Given the description of an element on the screen output the (x, y) to click on. 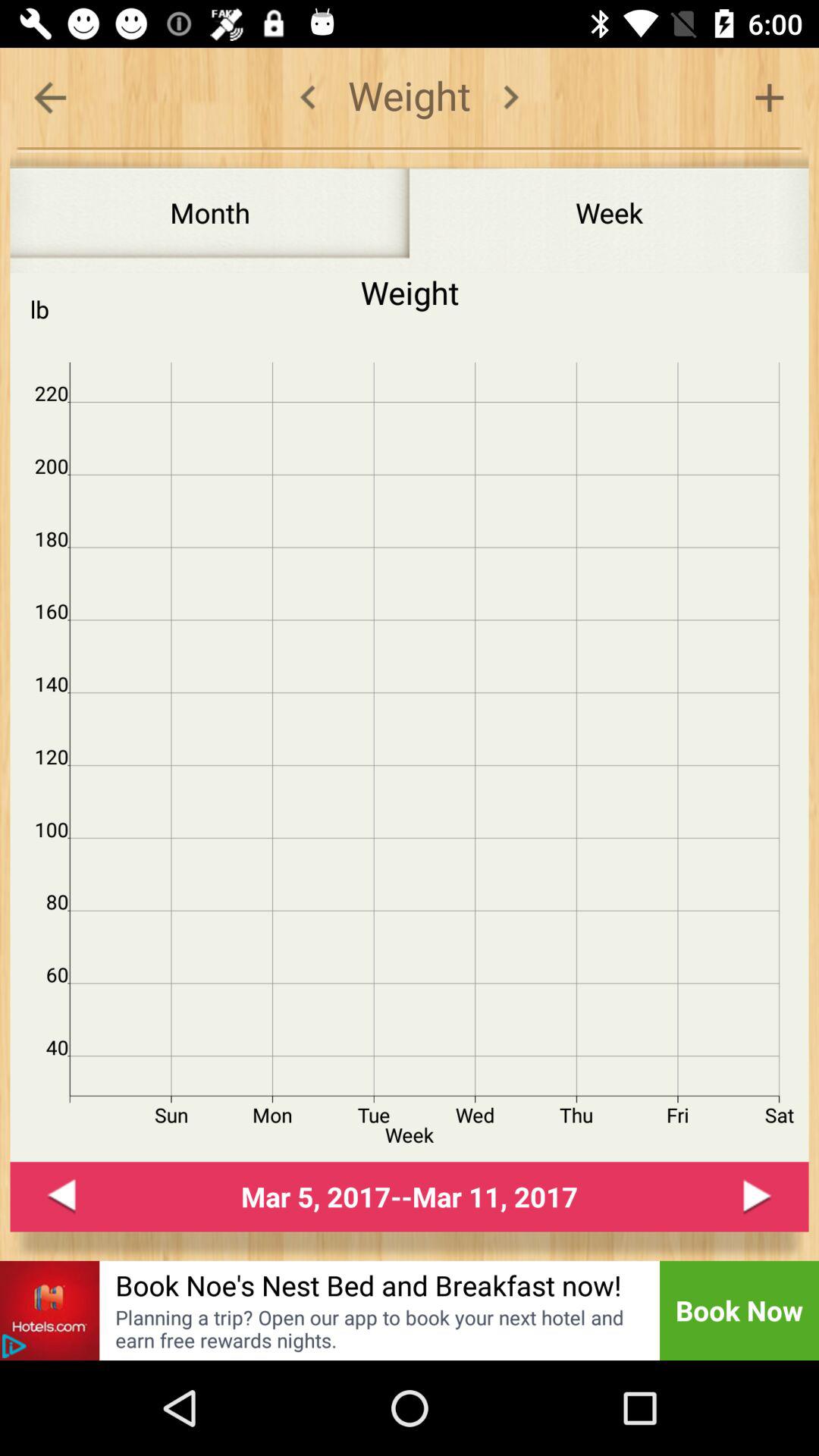
previous (61, 1196)
